Given the description of an element on the screen output the (x, y) to click on. 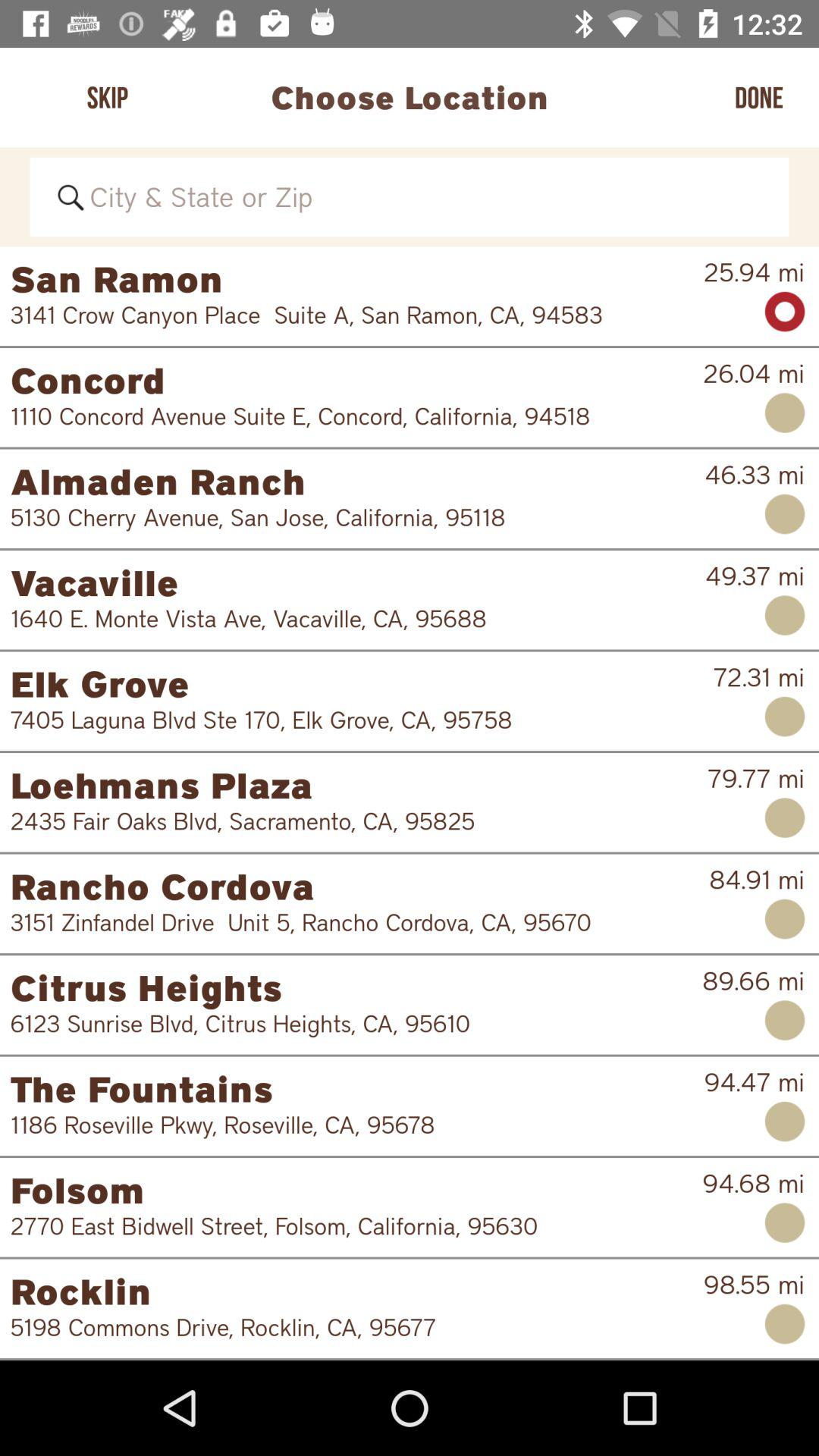
jump until the 1186 roseville pkwy item (347, 1124)
